Given the description of an element on the screen output the (x, y) to click on. 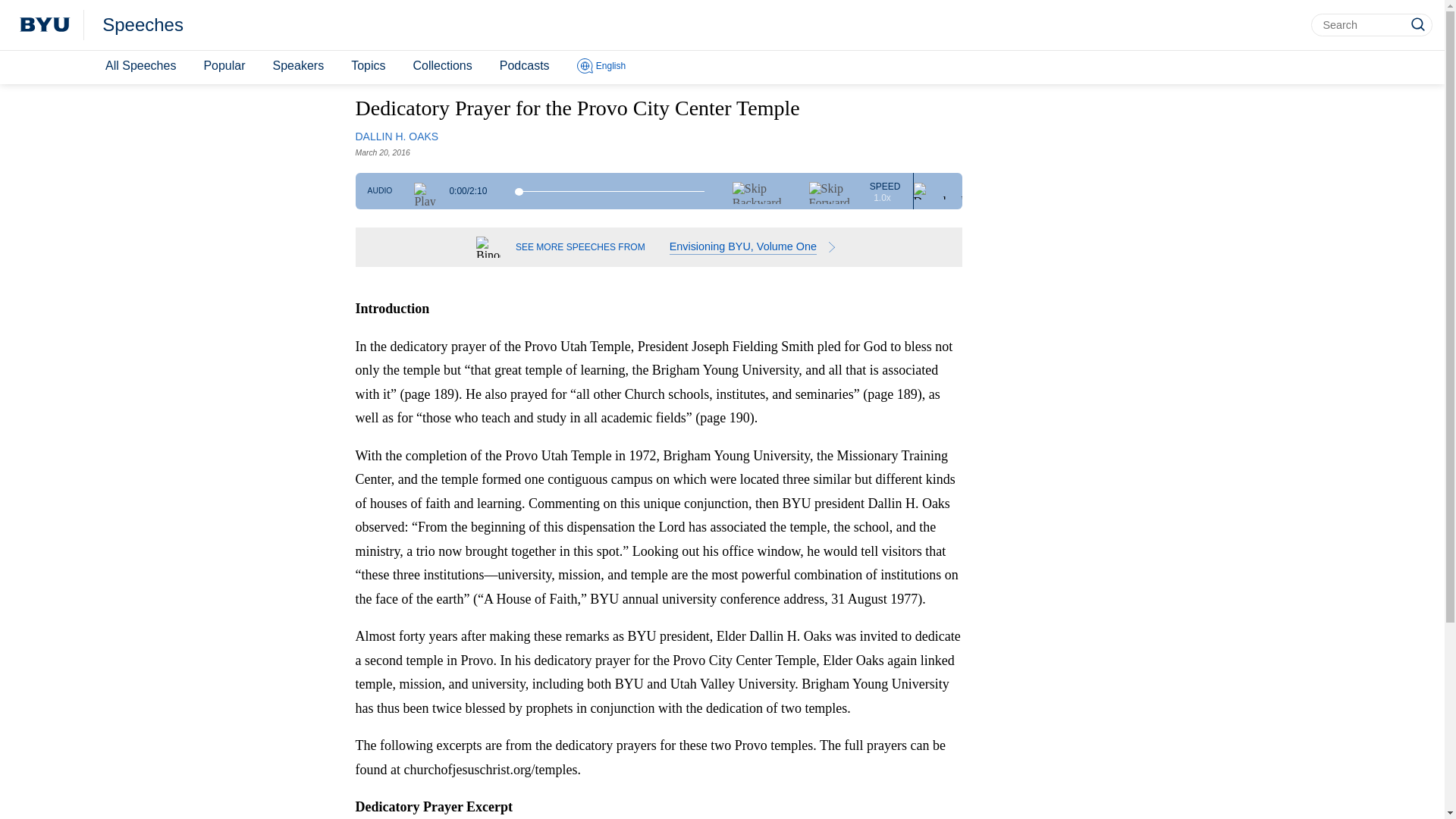
Envisioning BYU, Volume One (755, 247)
English (600, 67)
Popular (223, 65)
Topics (368, 65)
Collections (441, 65)
Podcasts (524, 65)
Speeches (142, 25)
All Speeches (140, 65)
Speakers (298, 65)
